Given the description of an element on the screen output the (x, y) to click on. 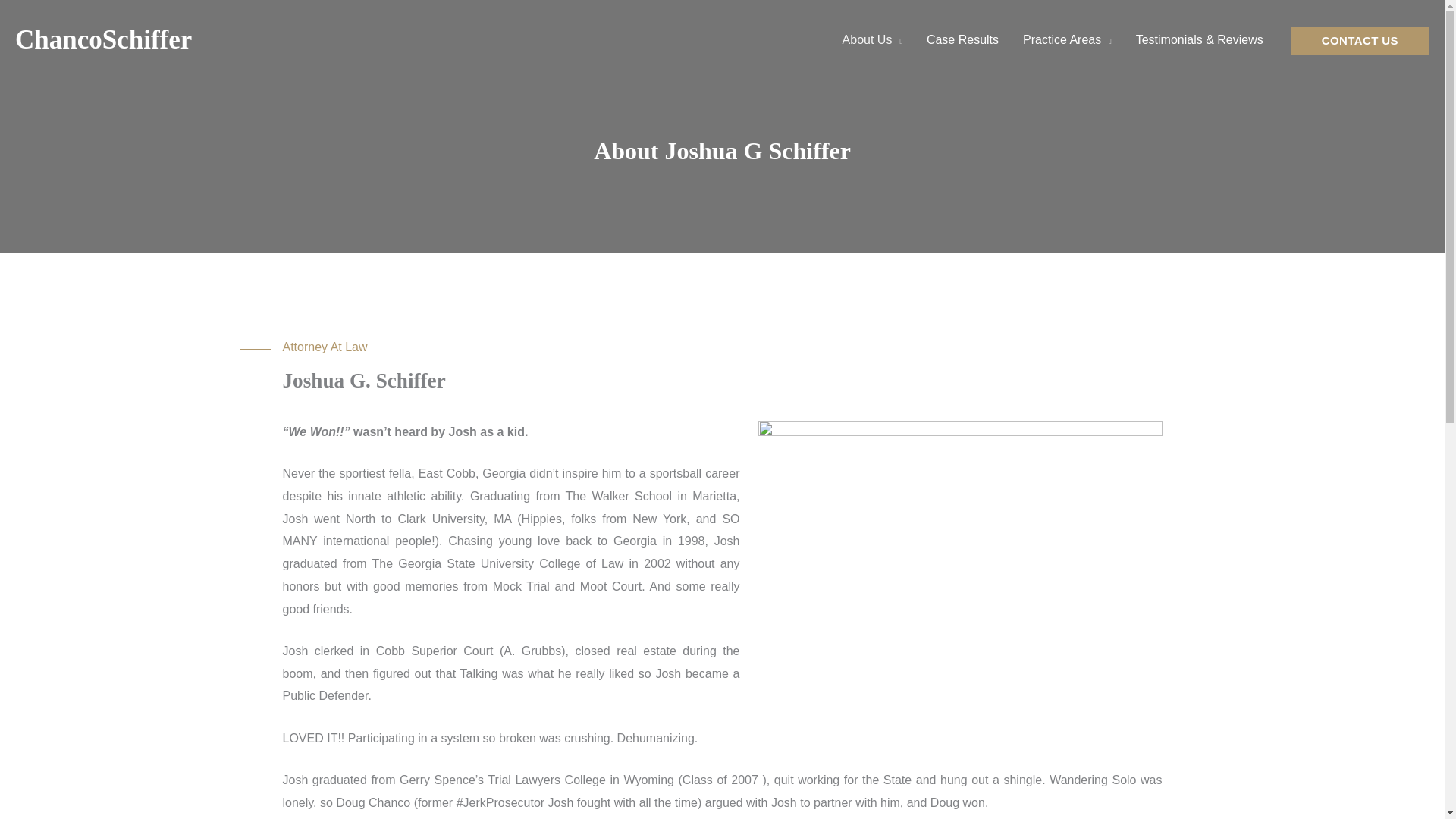
Case Results (962, 39)
CONTACT US (1359, 39)
About Us (871, 39)
ChancoSchiffer (103, 39)
Practice Areas (1067, 39)
